Given the description of an element on the screen output the (x, y) to click on. 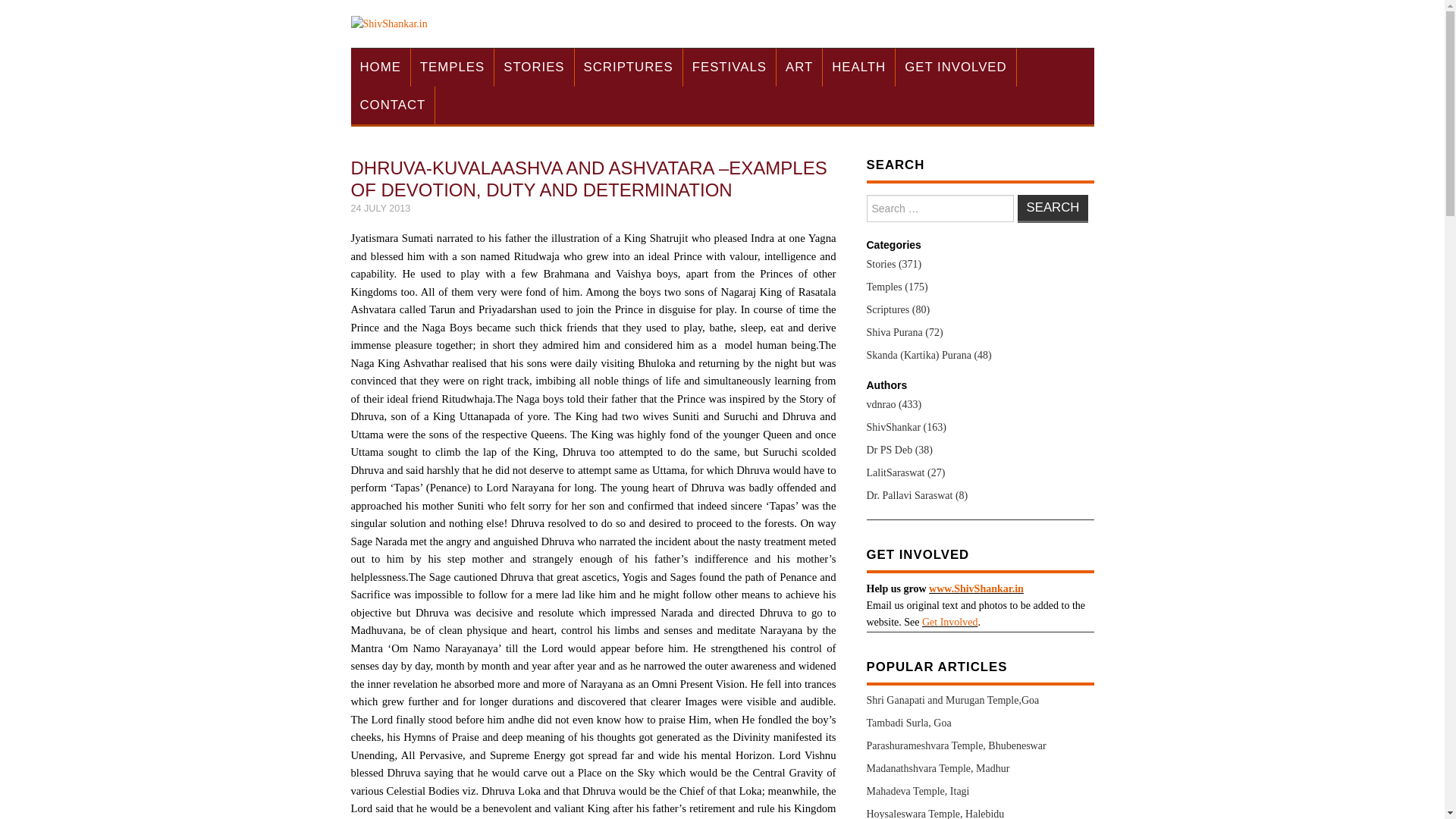
Madanathshvara Temple, Madhur (937, 767)
www.ShivShankar.in (975, 588)
FESTIVALS (729, 67)
Search for: (939, 207)
Tambadi Surla, Goa (908, 722)
Madanathshvara Temple, Madhur (937, 767)
ShivShankar.in (388, 22)
Mahadeva Temple, Itagi (917, 790)
Search (1053, 208)
Get Involved (948, 622)
